Given the description of an element on the screen output the (x, y) to click on. 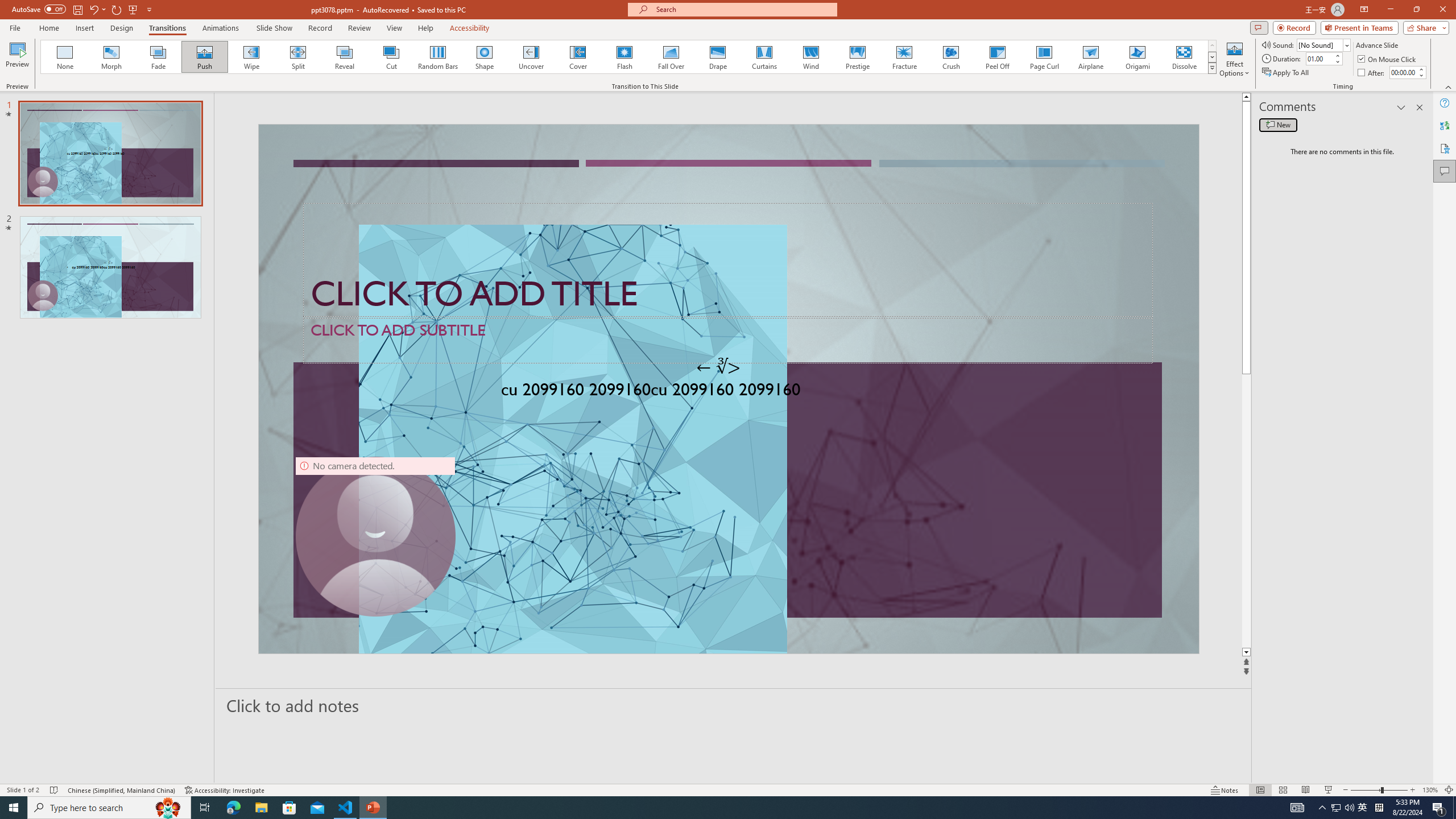
Origami (1136, 56)
Random Bars (437, 56)
New comment (1278, 124)
An abstract genetic concept (728, 388)
TextBox 61 (726, 391)
